Given the description of an element on the screen output the (x, y) to click on. 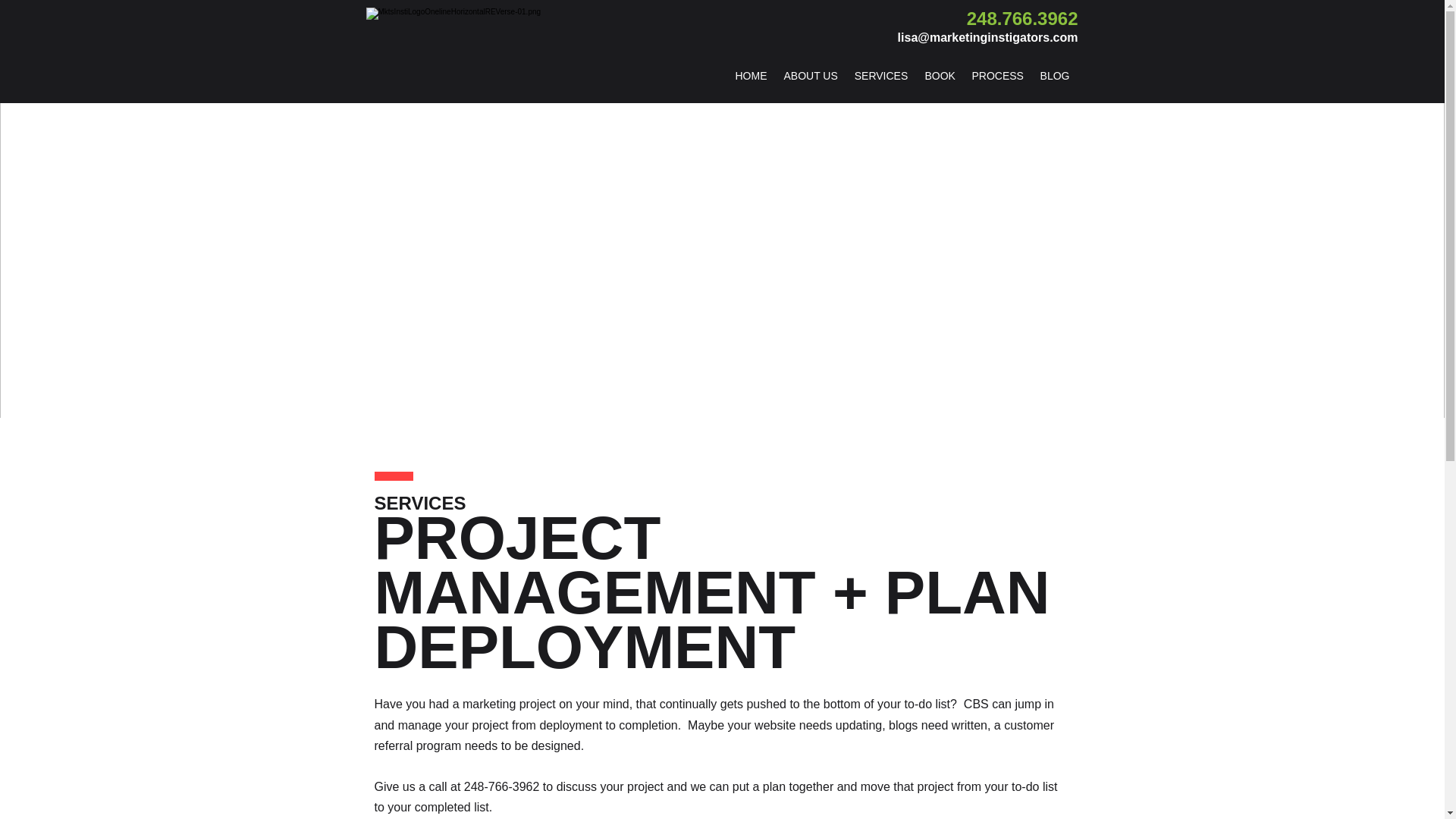
HOME (750, 75)
PROCESS (996, 75)
ABOUT US (809, 75)
SERVICES (881, 75)
BOOK (938, 75)
